Given the description of an element on the screen output the (x, y) to click on. 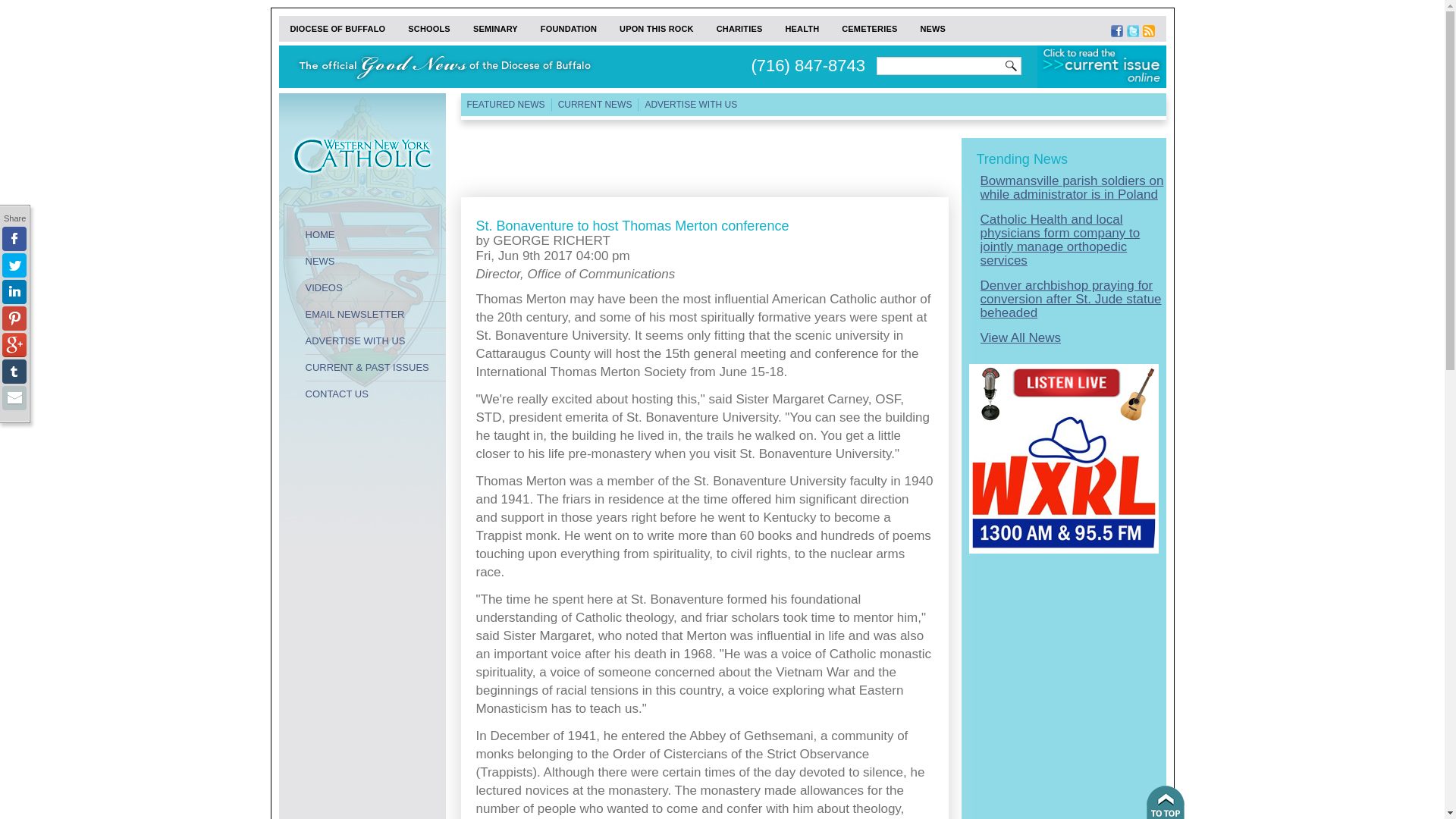
EMAIL NEWSLETTER (374, 314)
NEWS (374, 261)
HOME (374, 234)
HEALTH (801, 28)
FOUNDATION (568, 28)
CONTACT US (374, 394)
CURRENT NEWS (595, 104)
ADVERTISE WITH US (690, 104)
SEMINARY (495, 28)
SCHOOLS (428, 28)
NEWS (932, 28)
CHARITIES (739, 28)
CEMETERIES (868, 28)
DIOCESE OF BUFFALO (338, 28)
ADVERTISE WITH US (374, 340)
